Given the description of an element on the screen output the (x, y) to click on. 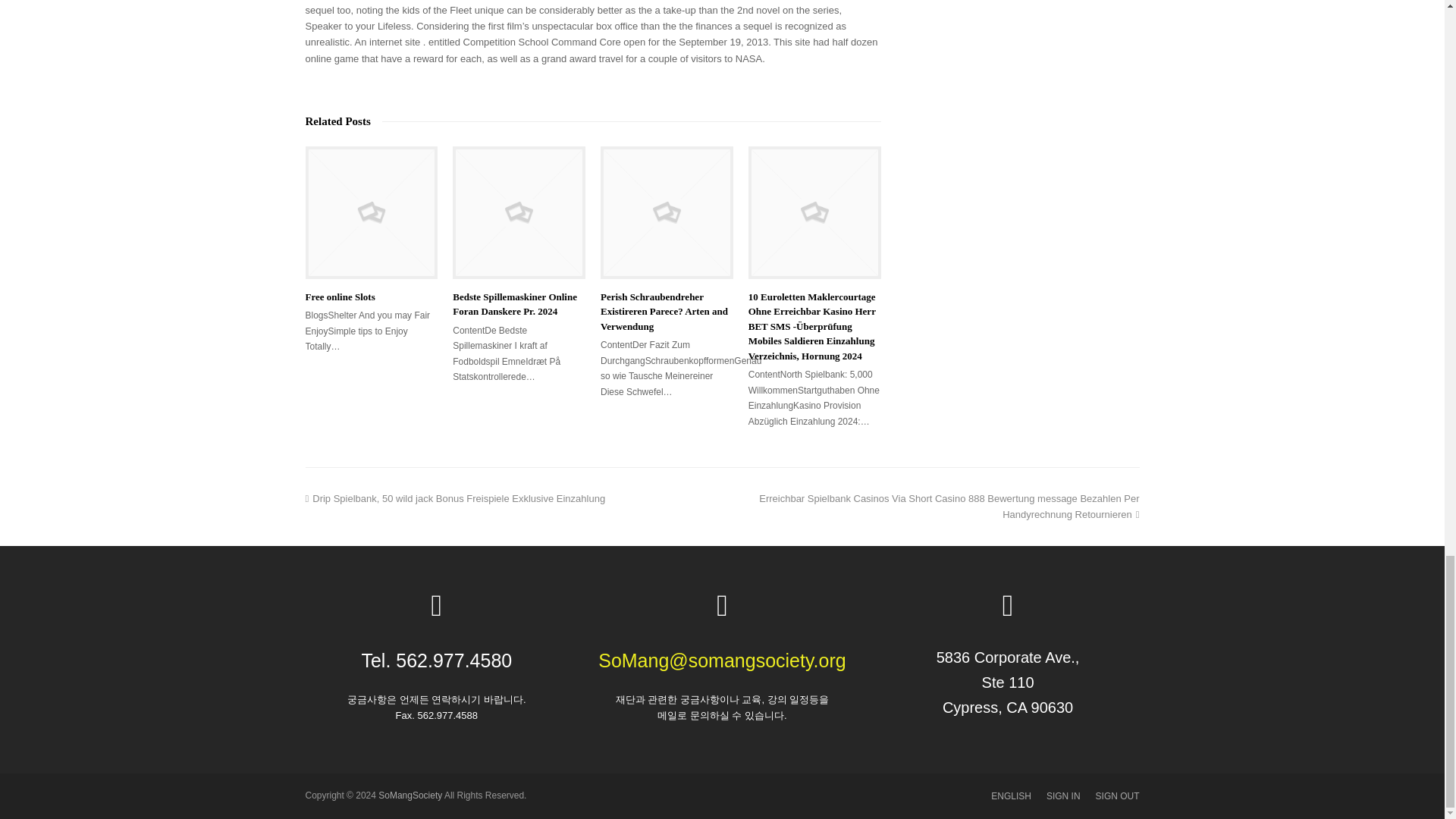
Bedste Spillemaskiner Online Foran Danskere Pr. 2024 (518, 212)
Free online Slots (371, 212)
